Given the description of an element on the screen output the (x, y) to click on. 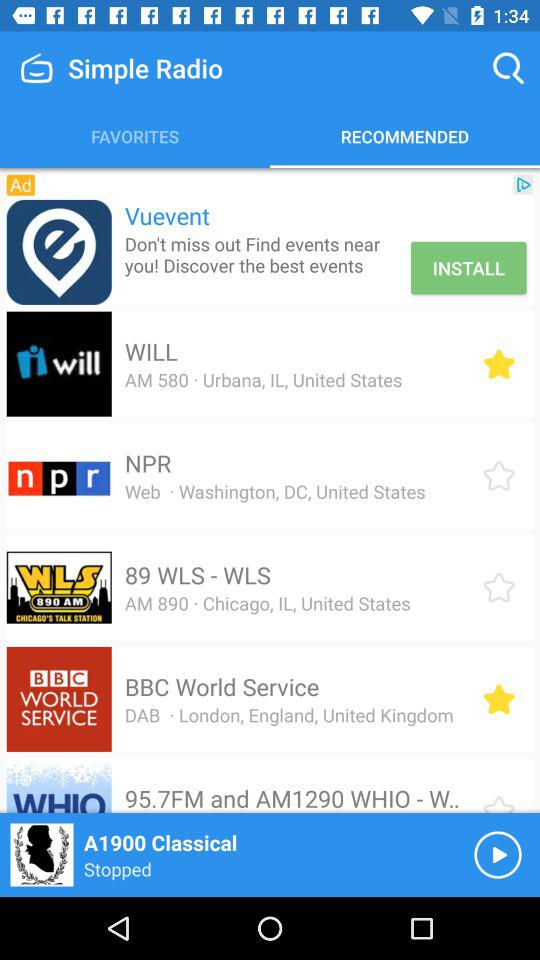
swipe until the will icon (150, 351)
